Given the description of an element on the screen output the (x, y) to click on. 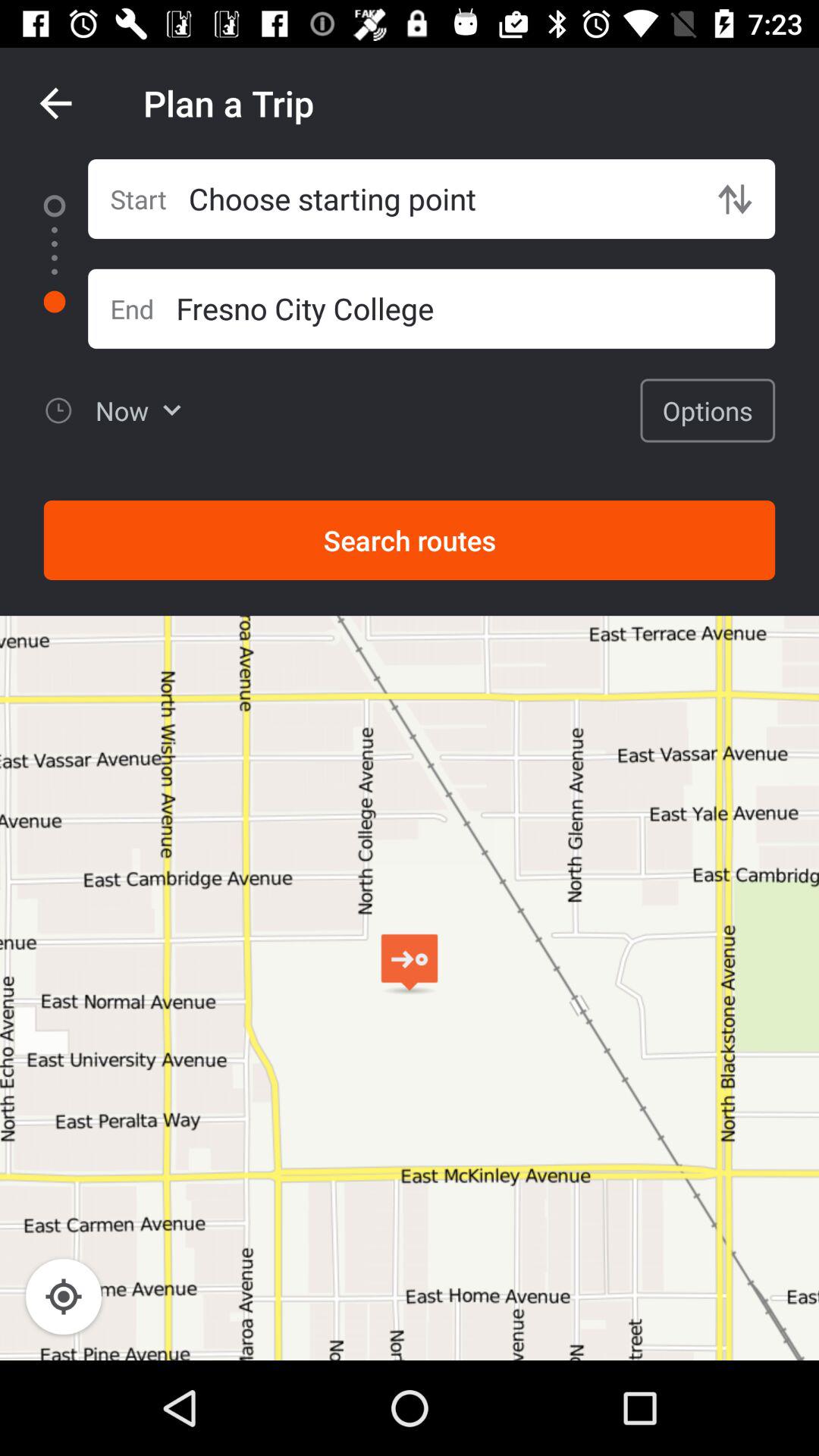
go to location (63, 1296)
